Given the description of an element on the screen output the (x, y) to click on. 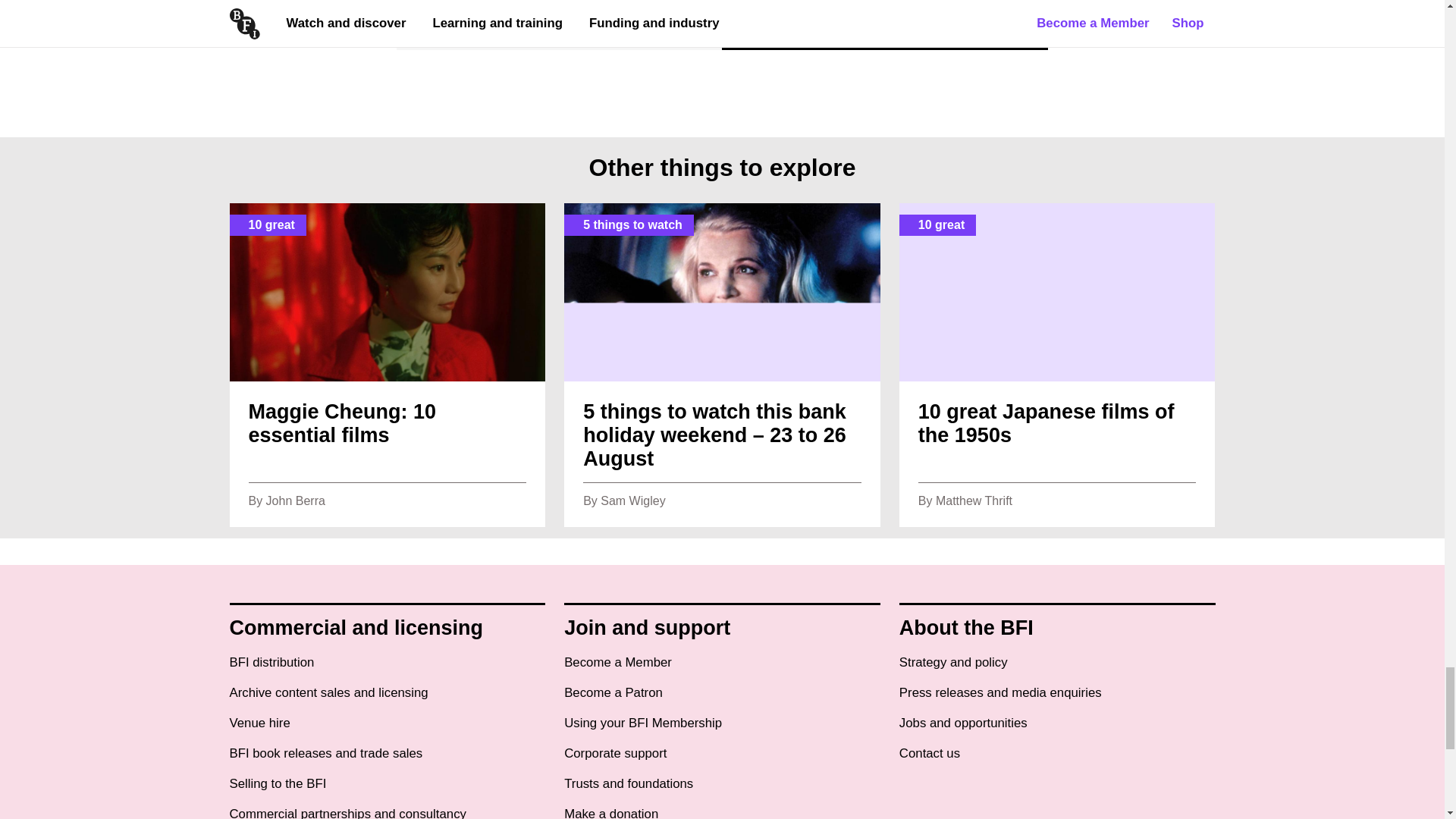
Try 14 days free (490, 13)
Try 14 days free (490, 13)
BFI distribution (271, 662)
Commercial and licensing (355, 627)
Read Maggie Cheung: 10 essential films (386, 365)
Read 10 great Japanese films of the 1950s (1057, 365)
Commercial partnerships and consultancy (346, 812)
Trusts and foundations (628, 783)
Become a Patron (613, 693)
Become a Member (617, 662)
